Given the description of an element on the screen output the (x, y) to click on. 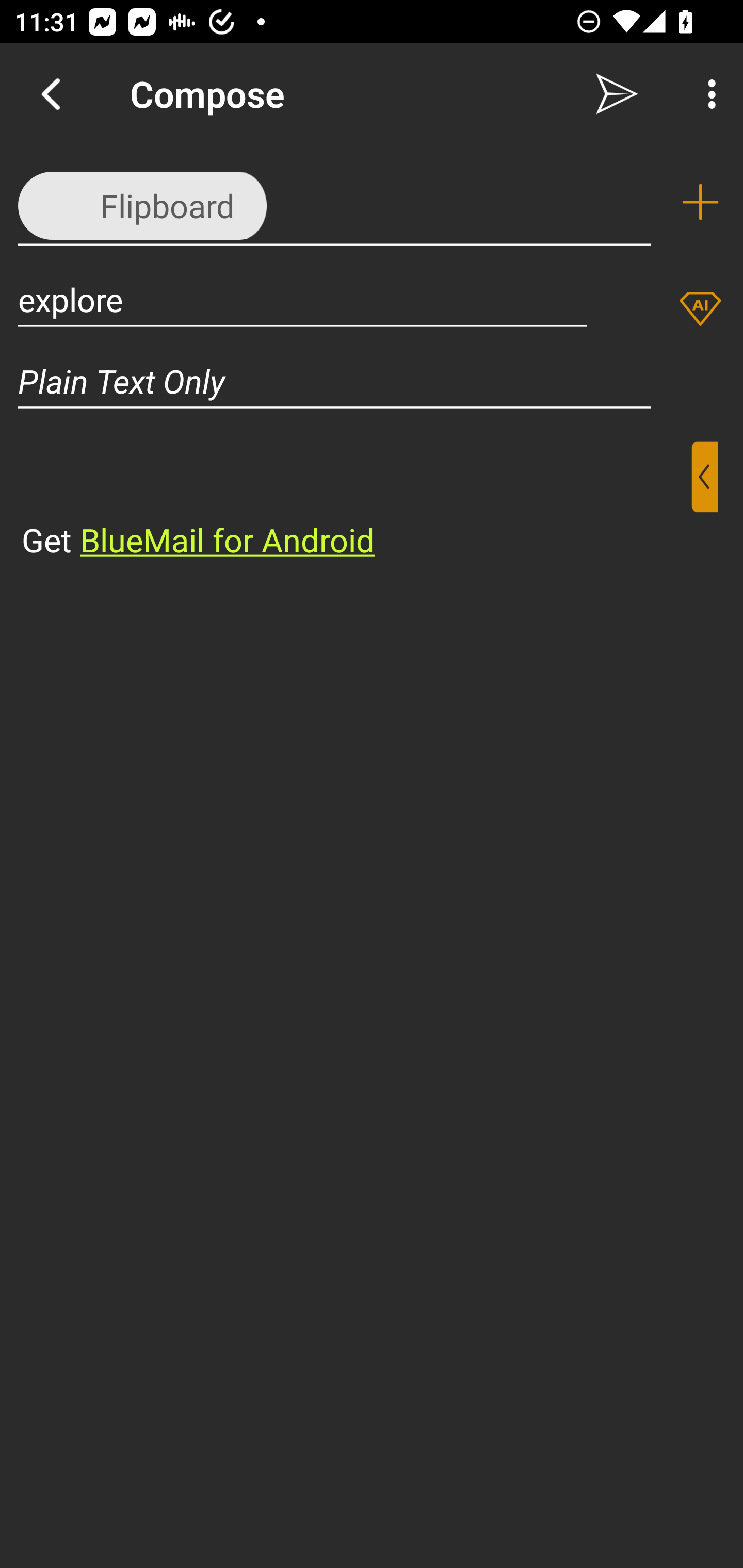
Navigate up (50, 93)
Send (616, 93)
More Options (706, 93)
Flipboard <editorialstaff@flipboard.com>,  (334, 201)
Add recipient (To) (699, 201)
explore (302, 299)
Plain Text Only (371, 380)


⁣Get BlueMail for Android ​ (355, 501)
